Given the description of an element on the screen output the (x, y) to click on. 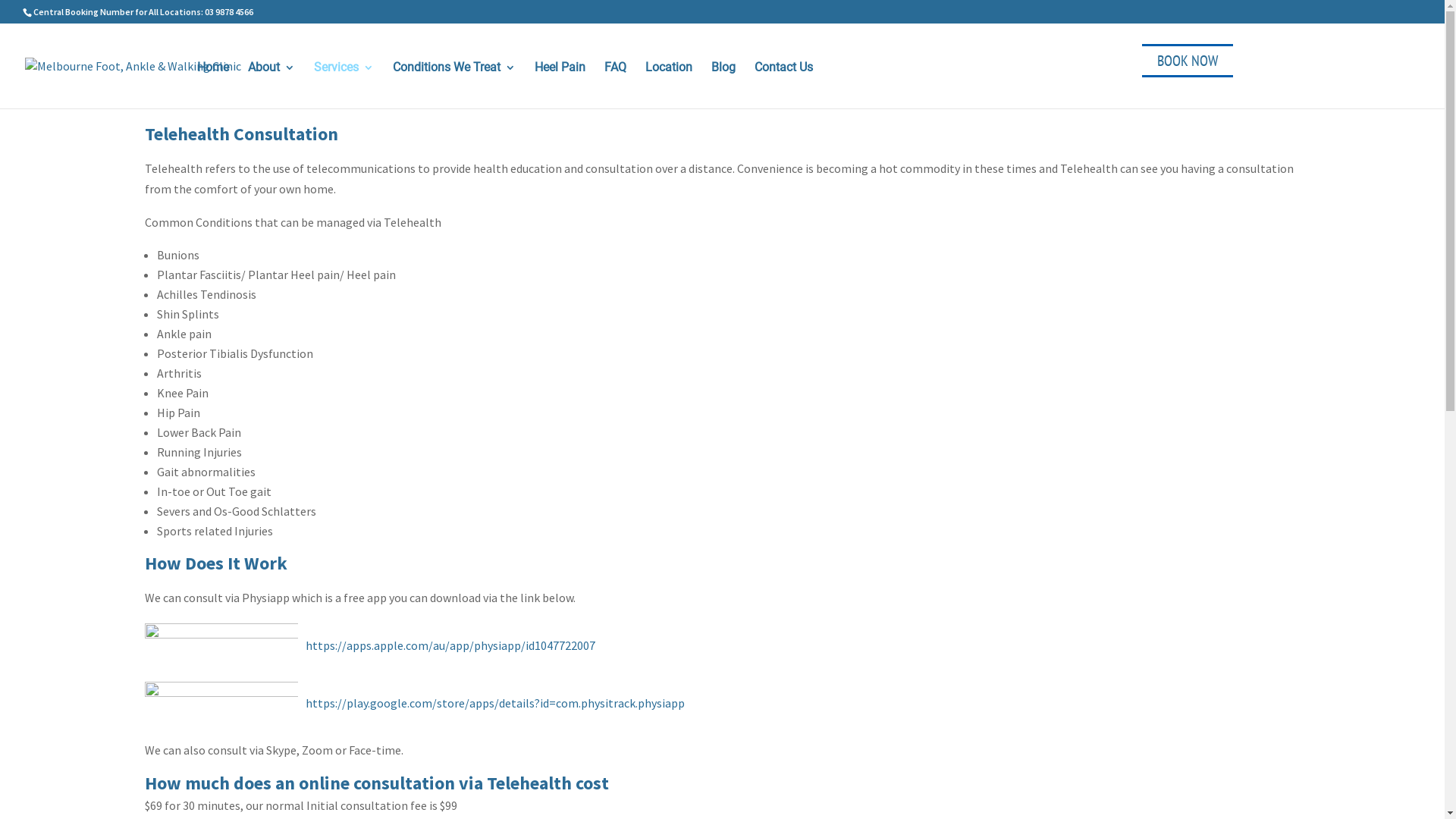
Blog Element type: text (723, 82)
About Element type: text (270, 82)
Contact Us Element type: text (783, 82)
Heel Pain Element type: text (559, 82)
Location Element type: text (668, 82)
BOOK NOW Element type: text (1187, 60)
https://apps.apple.com/au/app/physiapp/id1047722007 Element type: text (369, 644)
Conditions We Treat Element type: text (453, 82)
FAQ Element type: text (615, 82)
Services Element type: text (343, 82)
Home Element type: text (213, 82)
